Given the description of an element on the screen output the (x, y) to click on. 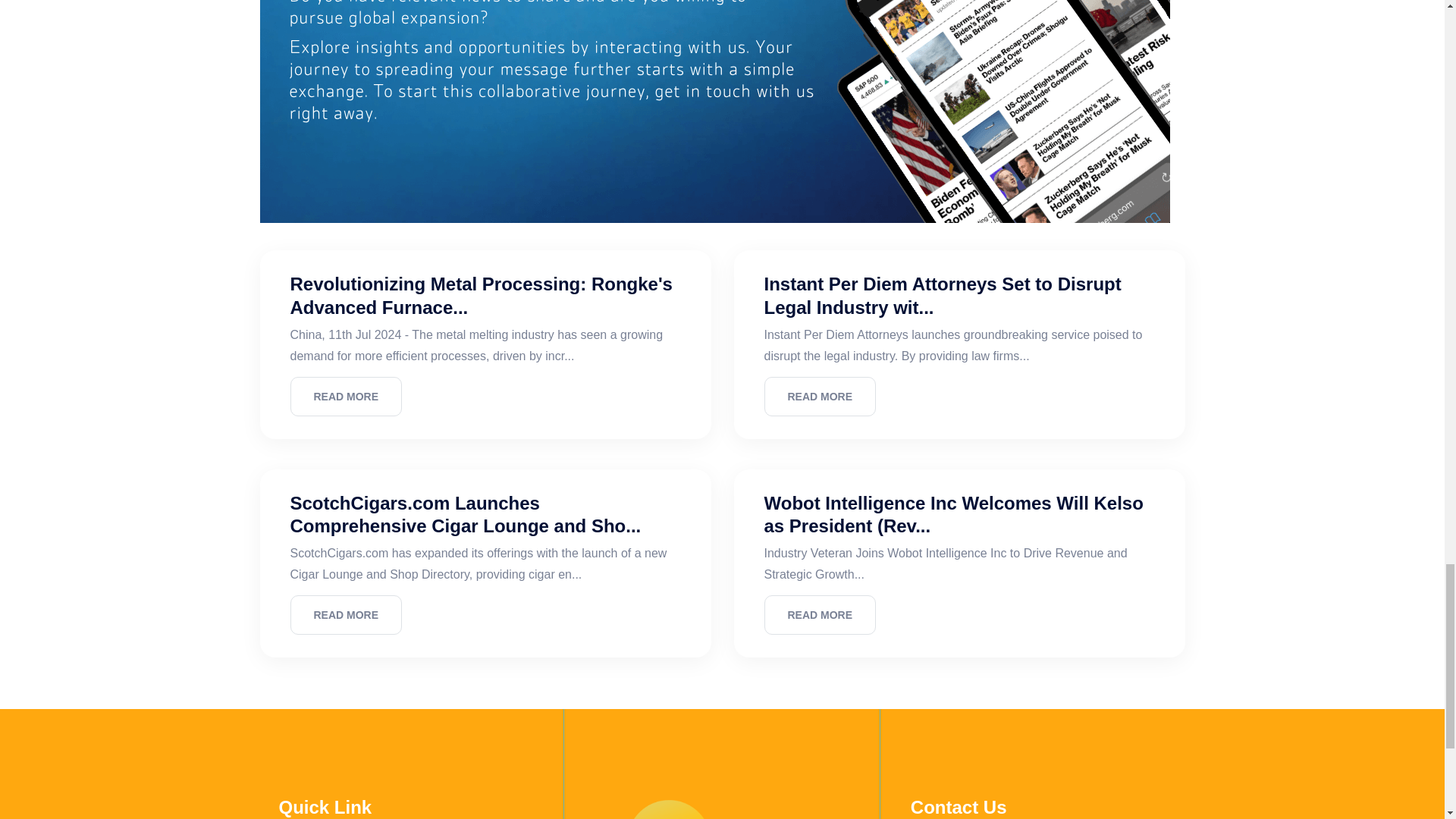
READ MORE (345, 396)
READ MORE (345, 614)
READ MORE (820, 396)
